Given the description of an element on the screen output the (x, y) to click on. 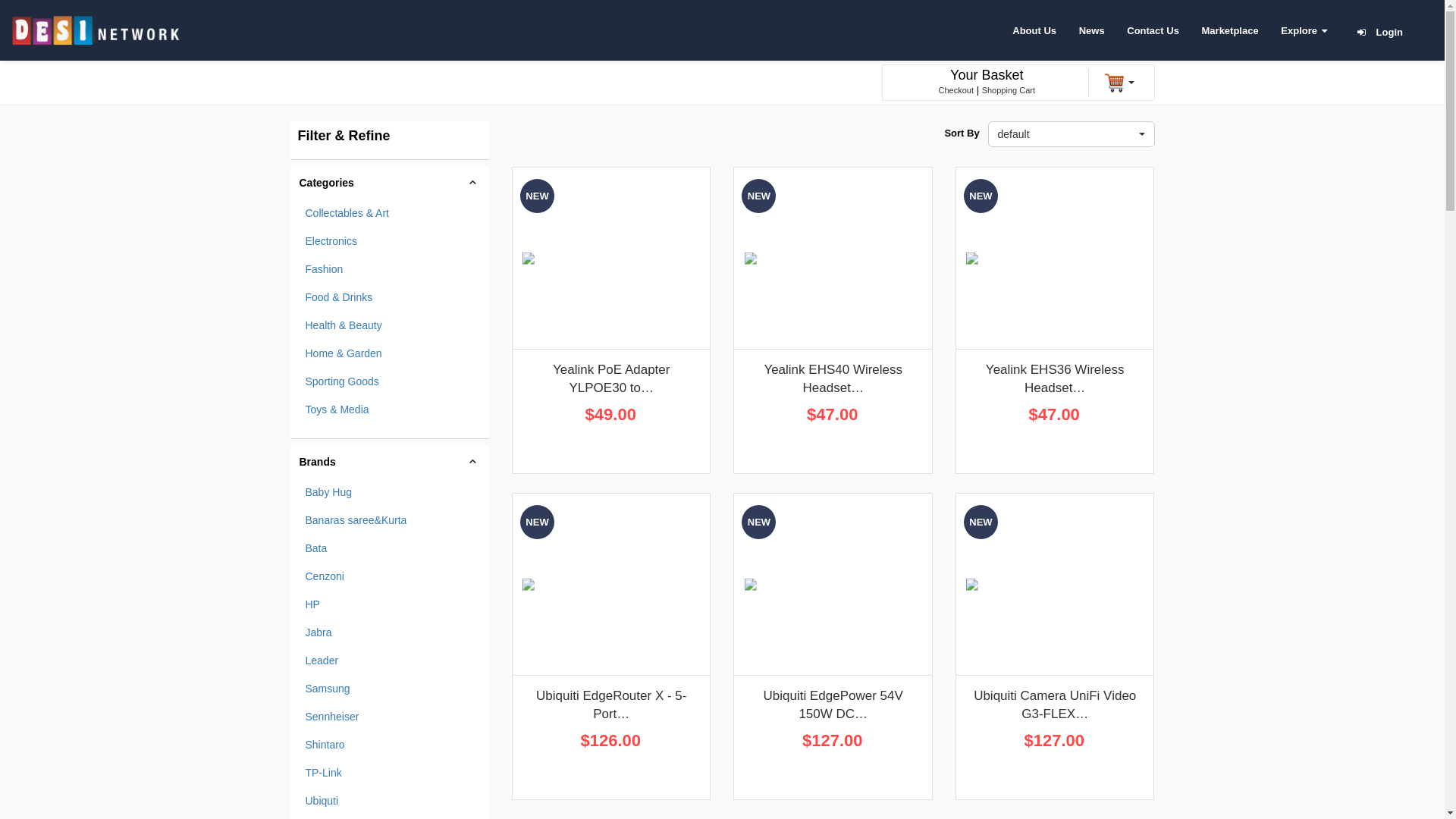
Fashion Element type: text (389, 268)
Banaras saree&Kurta Element type: text (389, 519)
Marketplace Element type: text (1230, 30)
Leader Element type: text (389, 660)
TP-Link Element type: text (389, 772)
Bata Element type: text (389, 547)
HP Element type: text (389, 604)
Jabra Element type: text (389, 632)
Sennheiser Element type: text (389, 716)
Collectables & Art Element type: text (389, 212)
Contact Us Element type: text (1152, 30)
Explore Element type: text (1303, 30)
Food & Drinks Element type: text (389, 296)
Sporting Goods Element type: text (389, 381)
Cenzoni Element type: text (389, 575)
Shintaro Element type: text (389, 744)
Brands Element type: text (389, 461)
Toys & Media Element type: text (389, 409)
Electronics Element type: text (389, 240)
Samsung Element type: text (389, 688)
About Us Element type: text (1033, 30)
Shopping Cart Element type: text (1008, 89)
Login Element type: text (1389, 31)
Categories Element type: text (389, 182)
Checkout Element type: text (955, 89)
default
  Element type: text (1070, 134)
Home & Garden Element type: text (389, 353)
Health & Beauty Element type: text (389, 324)
Baby Hug Element type: text (389, 491)
Ubiquti Element type: text (389, 800)
News Element type: text (1091, 30)
